Given the description of an element on the screen output the (x, y) to click on. 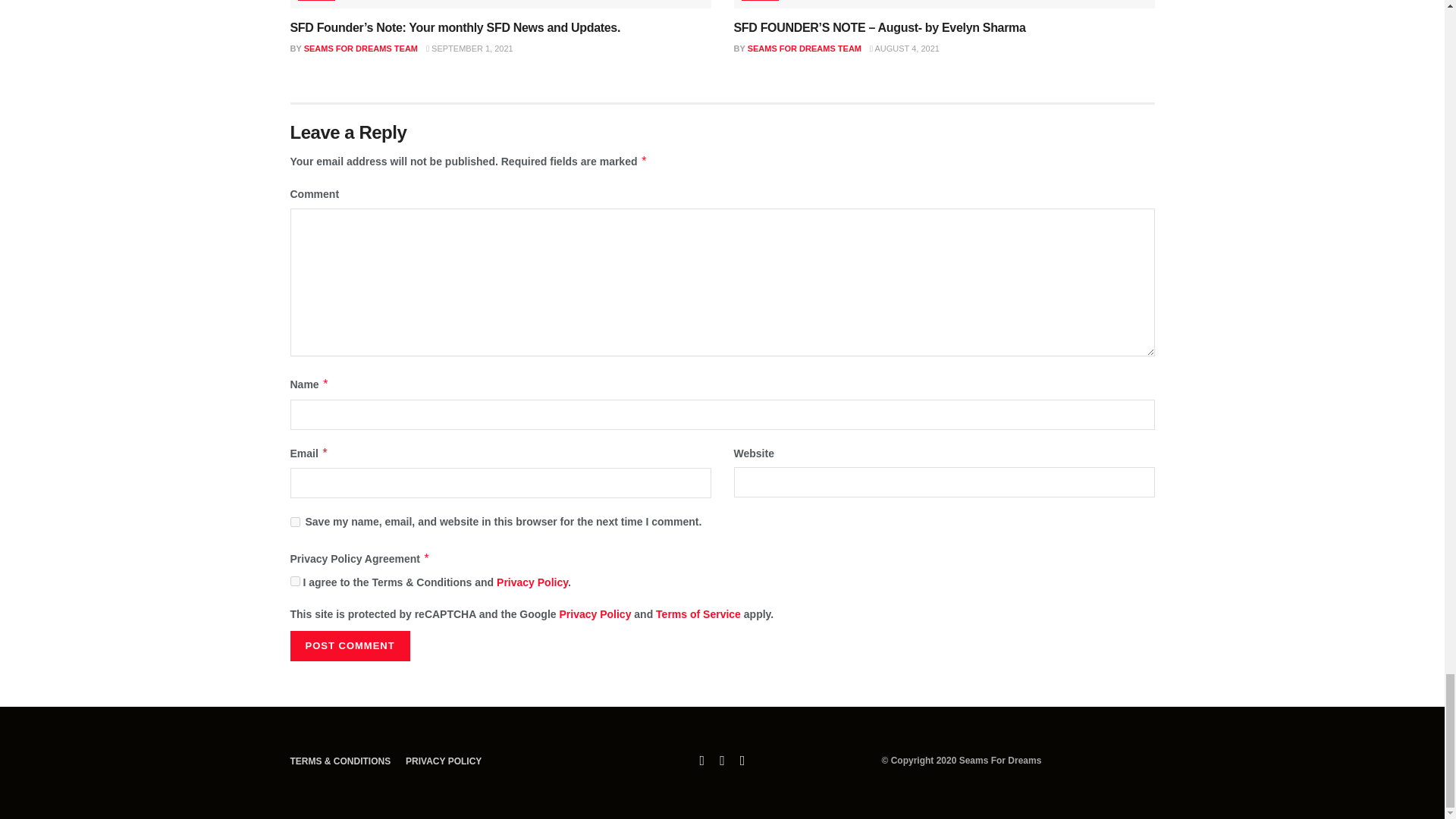
on (294, 581)
yes (294, 521)
Post Comment (349, 645)
